Given the description of an element on the screen output the (x, y) to click on. 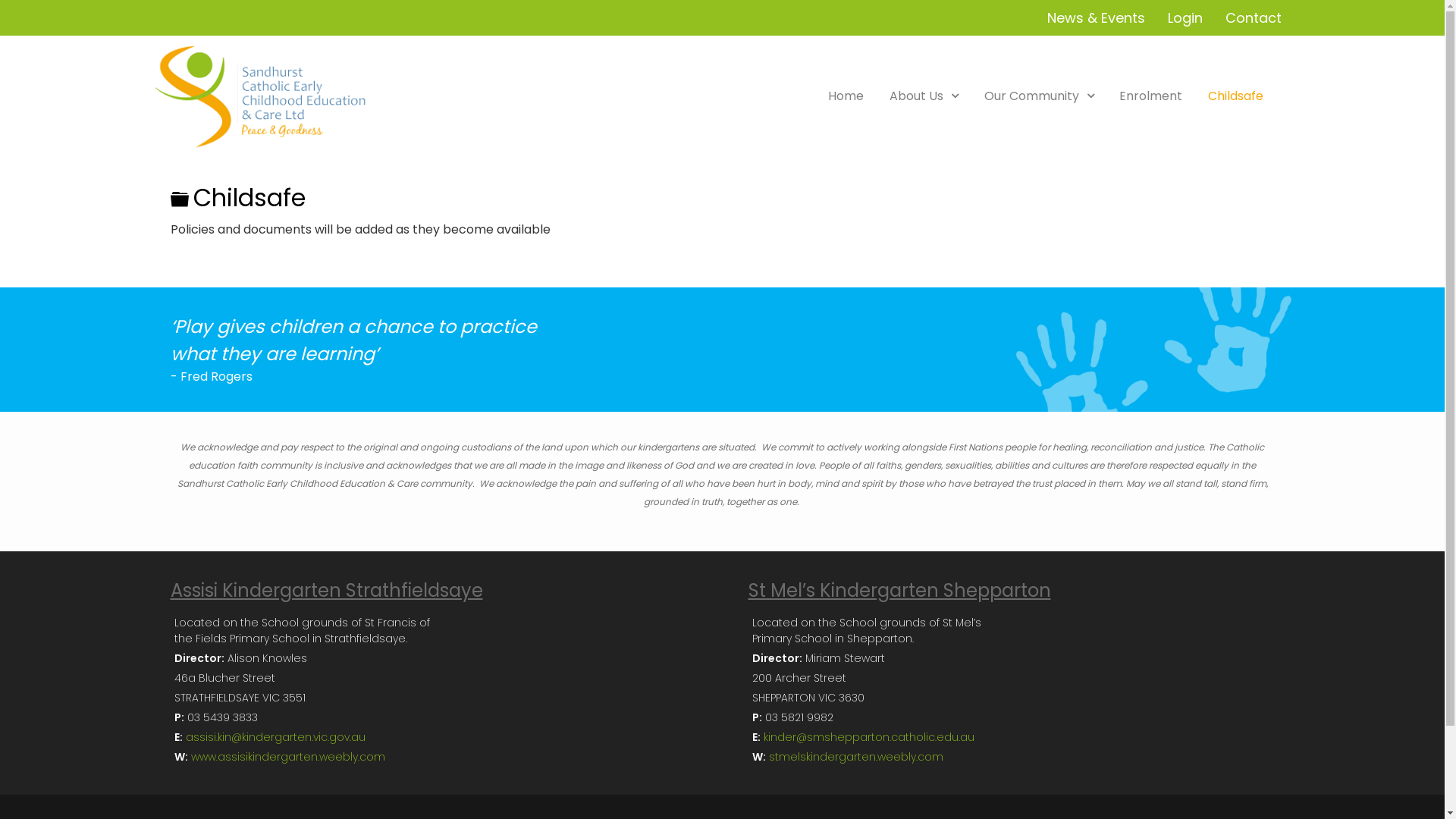
Home Element type: text (846, 95)
assisi.kin@kindergarten.vic.gov.au Element type: text (274, 736)
Contact Element type: text (1253, 17)
Login Element type: text (1184, 17)
kinder@smshepparton.catholic.edu.au Element type: text (867, 736)
News & Events Element type: text (1095, 17)
stmelskindergarten.weebly.com Element type: text (855, 756)
Enrolment Element type: text (1150, 95)
www.assisikindergarten.weebly.com Element type: text (288, 756)
Childsafe Element type: text (1235, 95)
